Given the description of an element on the screen output the (x, y) to click on. 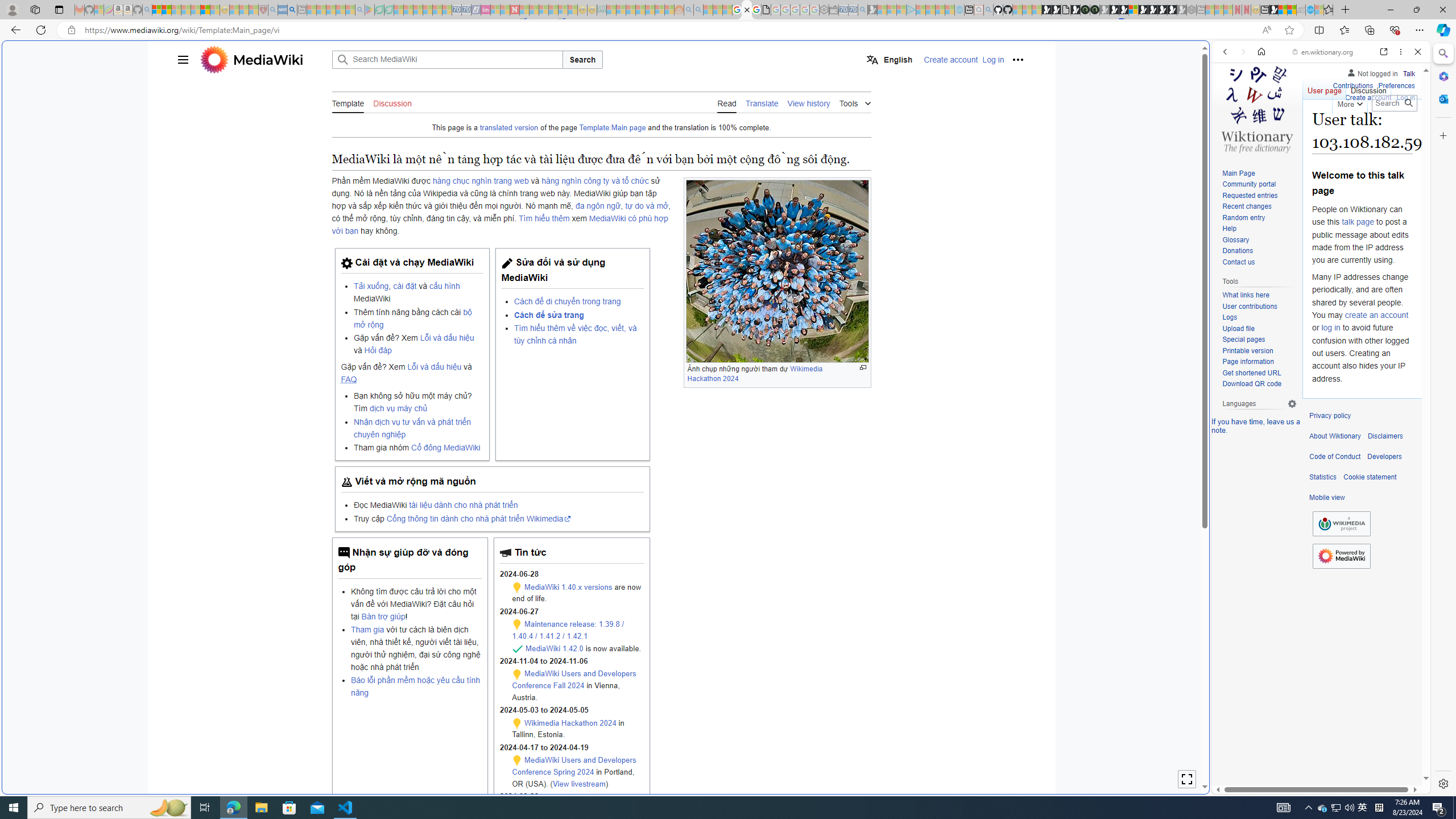
utah sues federal government - Search (922, 389)
Powered by MediaWiki (1341, 555)
View livestream (578, 782)
Tham gia (367, 629)
Tools (854, 101)
View history (808, 102)
